Given the description of an element on the screen output the (x, y) to click on. 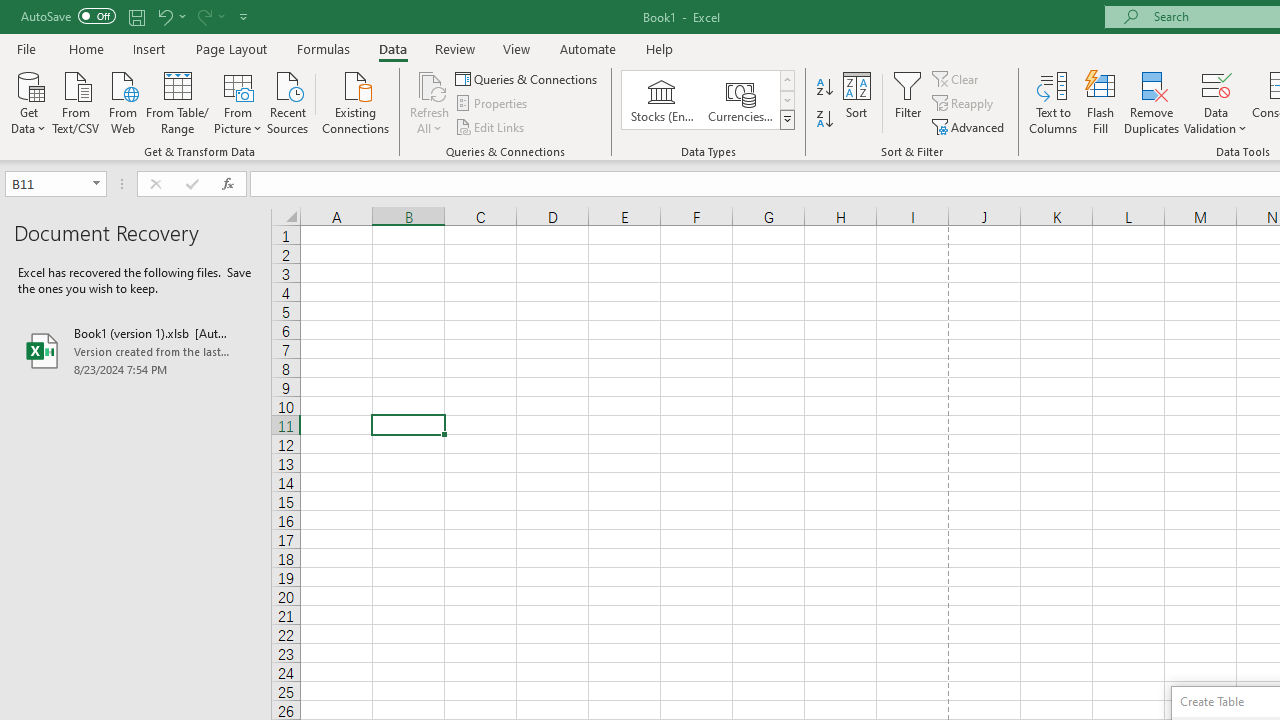
Edit Links (491, 126)
Advanced... (970, 126)
Sort Z to A (824, 119)
Existing Connections (355, 101)
Queries & Connections (527, 78)
Currencies (English) (740, 100)
